Given the description of an element on the screen output the (x, y) to click on. 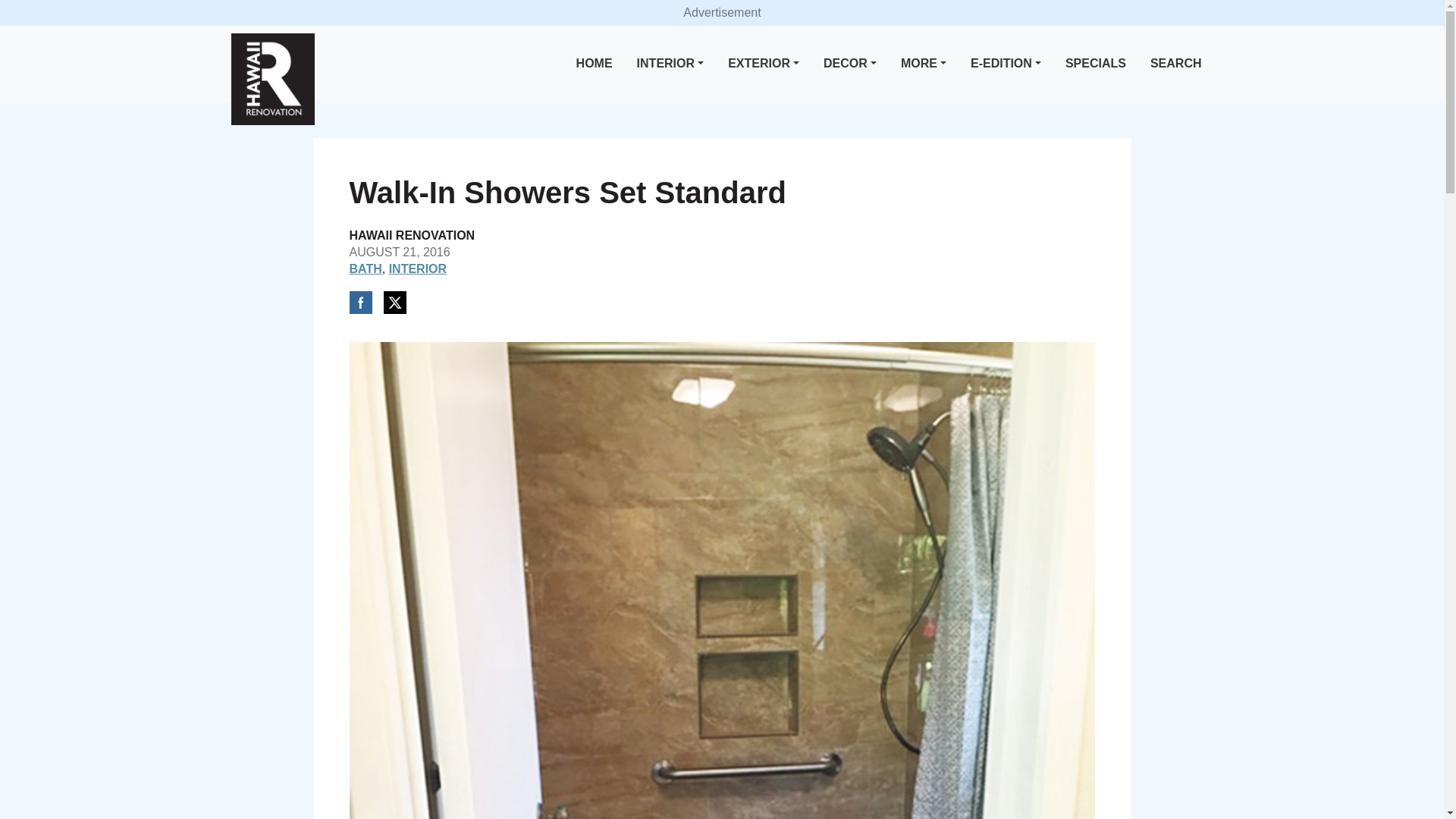
SEARCH (1176, 63)
Hawaii Renovation (272, 79)
EXTERIOR (763, 63)
Twitter (395, 302)
BATH (365, 268)
MORE (923, 63)
SPECIALS (1095, 63)
Facebook (360, 302)
INTERIOR (417, 268)
DECOR (849, 63)
